Given the description of an element on the screen output the (x, y) to click on. 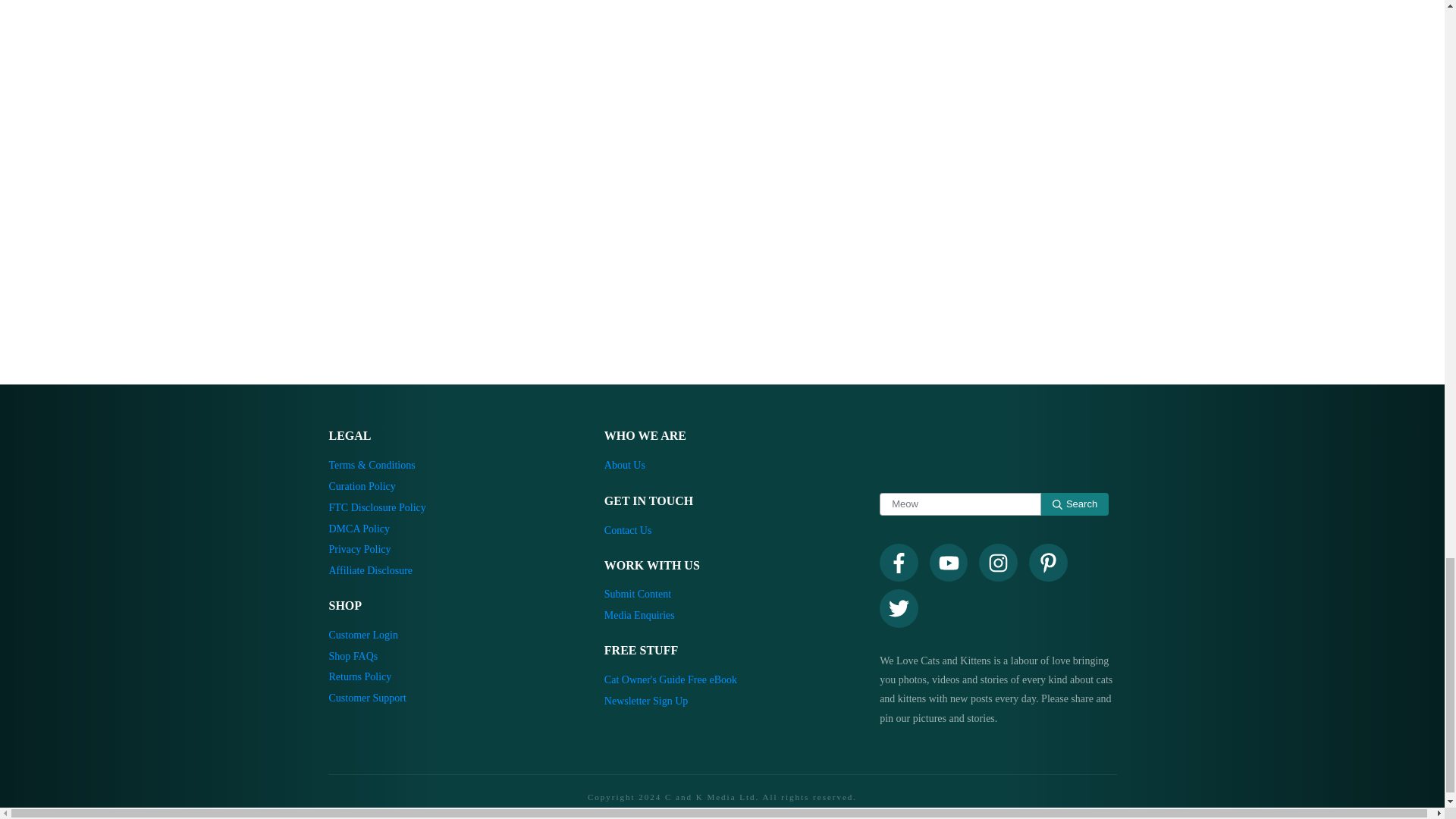
nu-cats-n-kittens-logo-c (997, 450)
